Given the description of an element on the screen output the (x, y) to click on. 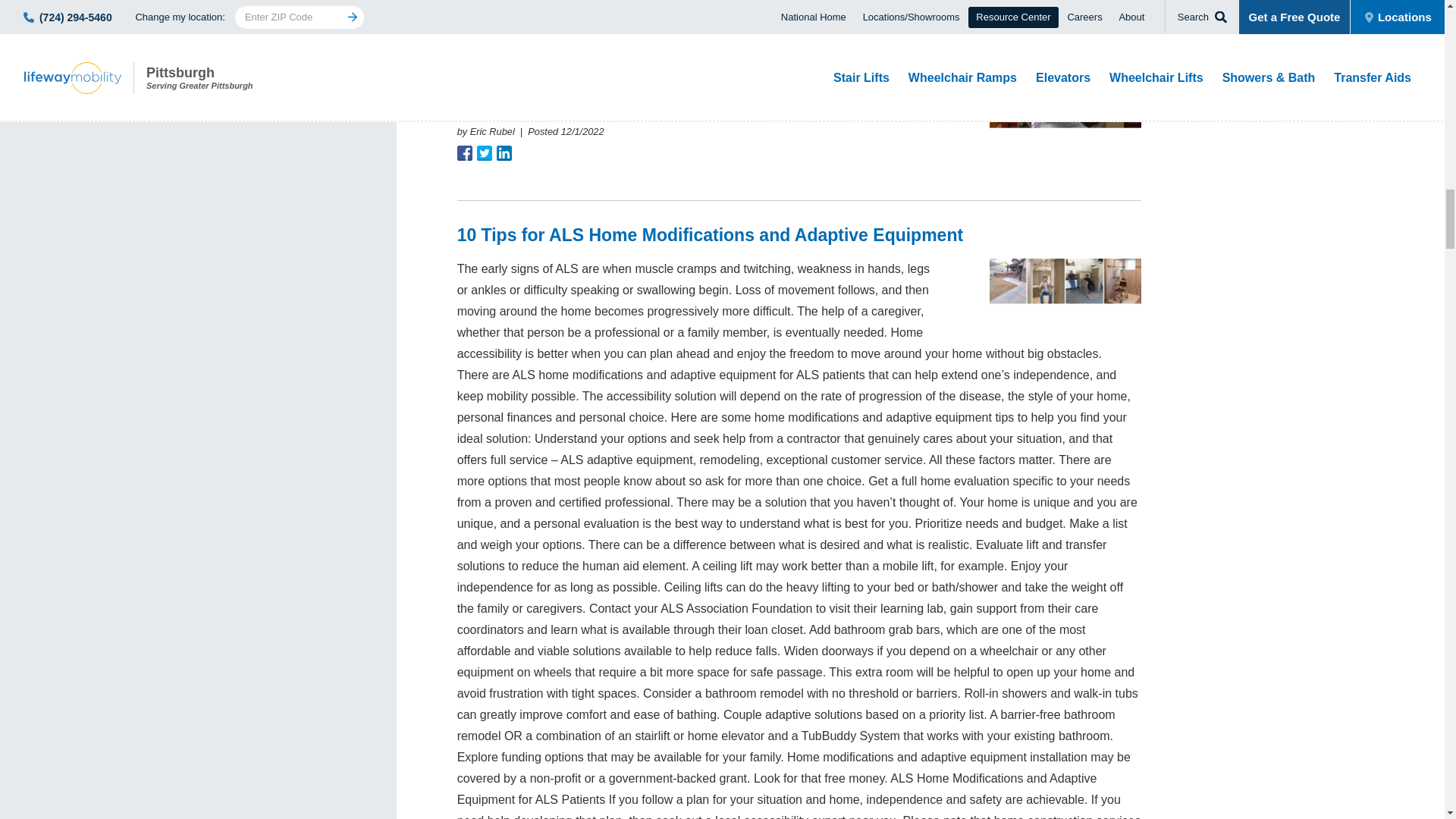
Share on Facebook (464, 152)
Share on LinkedIn (504, 152)
Share on Twitter (484, 152)
